Given the description of an element on the screen output the (x, y) to click on. 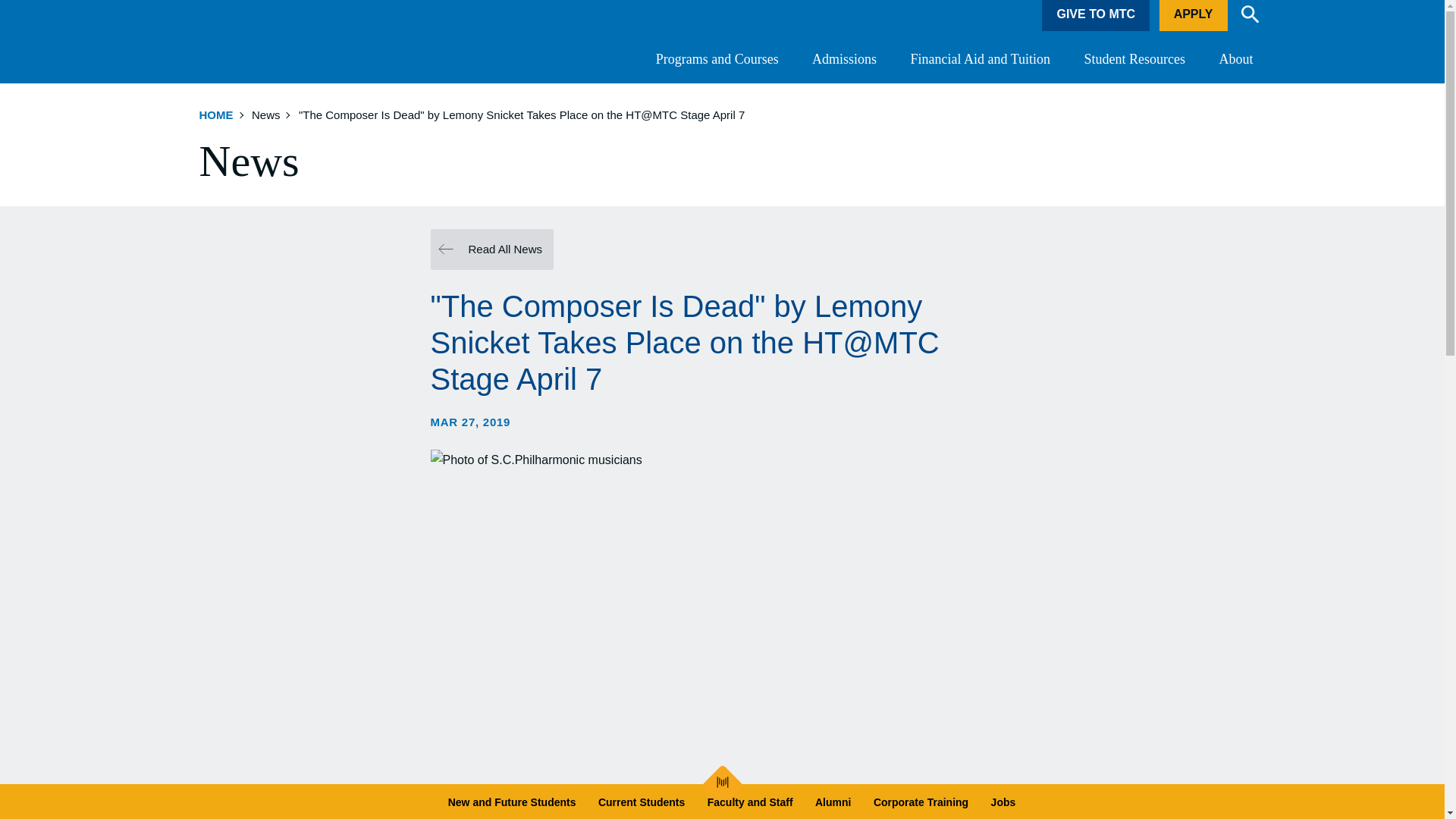
Programs and Courses (716, 59)
Midlands Technical College (284, 41)
Admissions (844, 59)
Open Search (1250, 14)
